Given the description of an element on the screen output the (x, y) to click on. 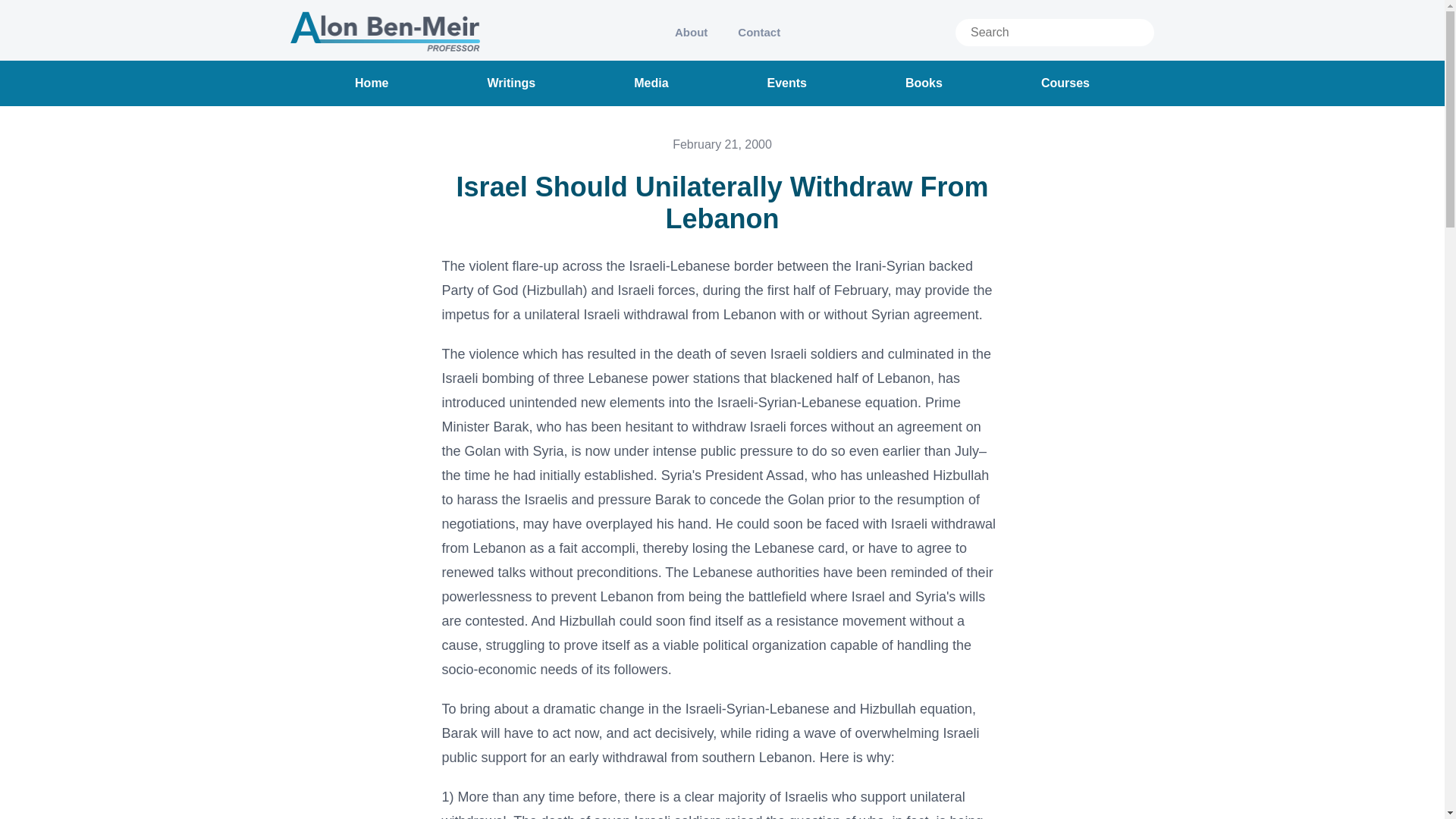
Writings (511, 83)
Media (651, 83)
Courses (1064, 83)
Contact (758, 31)
Events (786, 83)
About (690, 31)
Home (371, 83)
Books (923, 83)
